Given the description of an element on the screen output the (x, y) to click on. 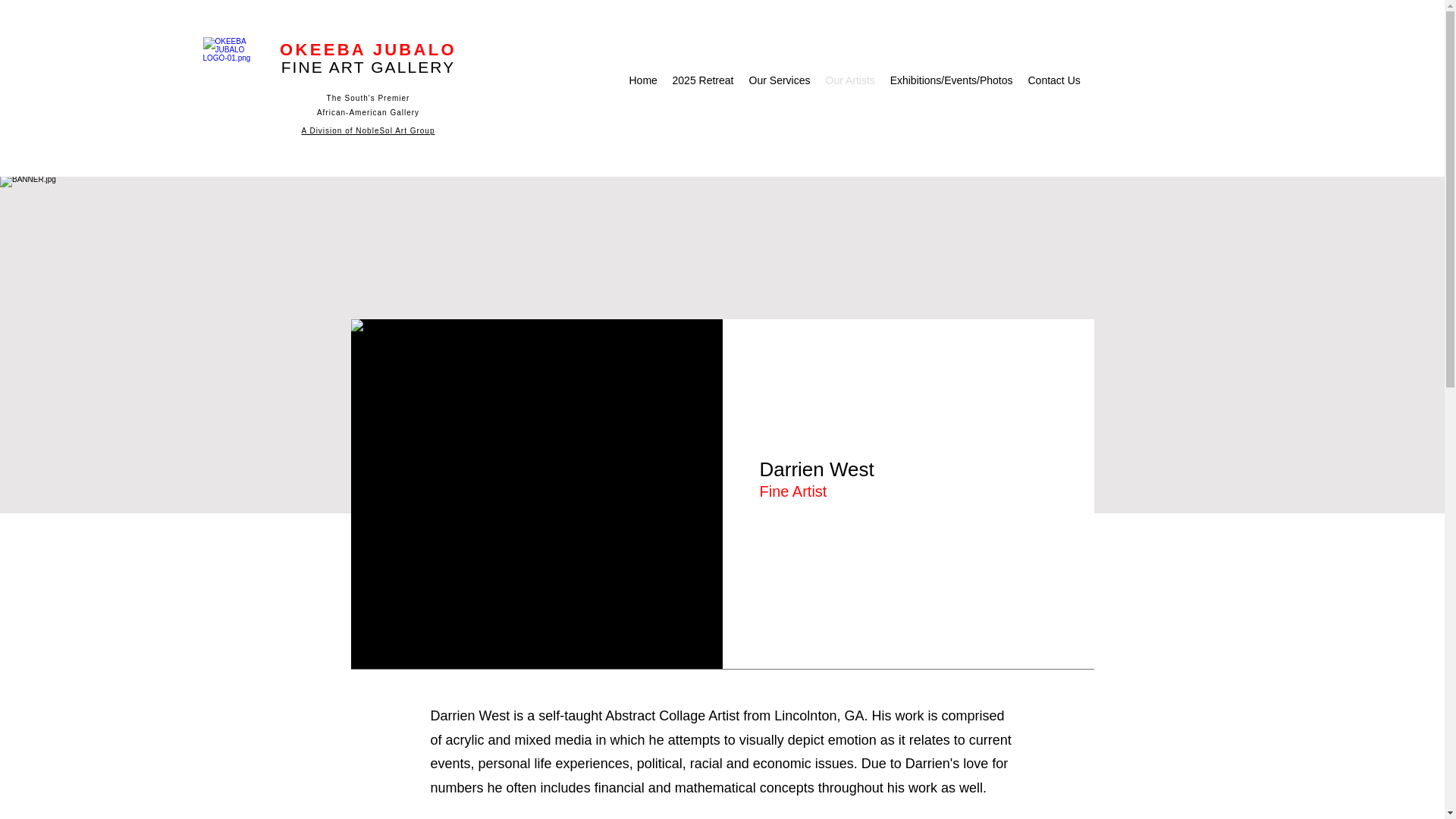
2025 Retreat (702, 79)
Contact Us (1053, 79)
Our Artists (849, 79)
African-American Gallery (368, 112)
Our Services (779, 79)
The South's Premier (368, 98)
Home (643, 79)
A Division of NobleSol Art Group (368, 130)
OKEEBA JUBALO (368, 49)
FINE ART GALLERY (368, 67)
